Given the description of an element on the screen output the (x, y) to click on. 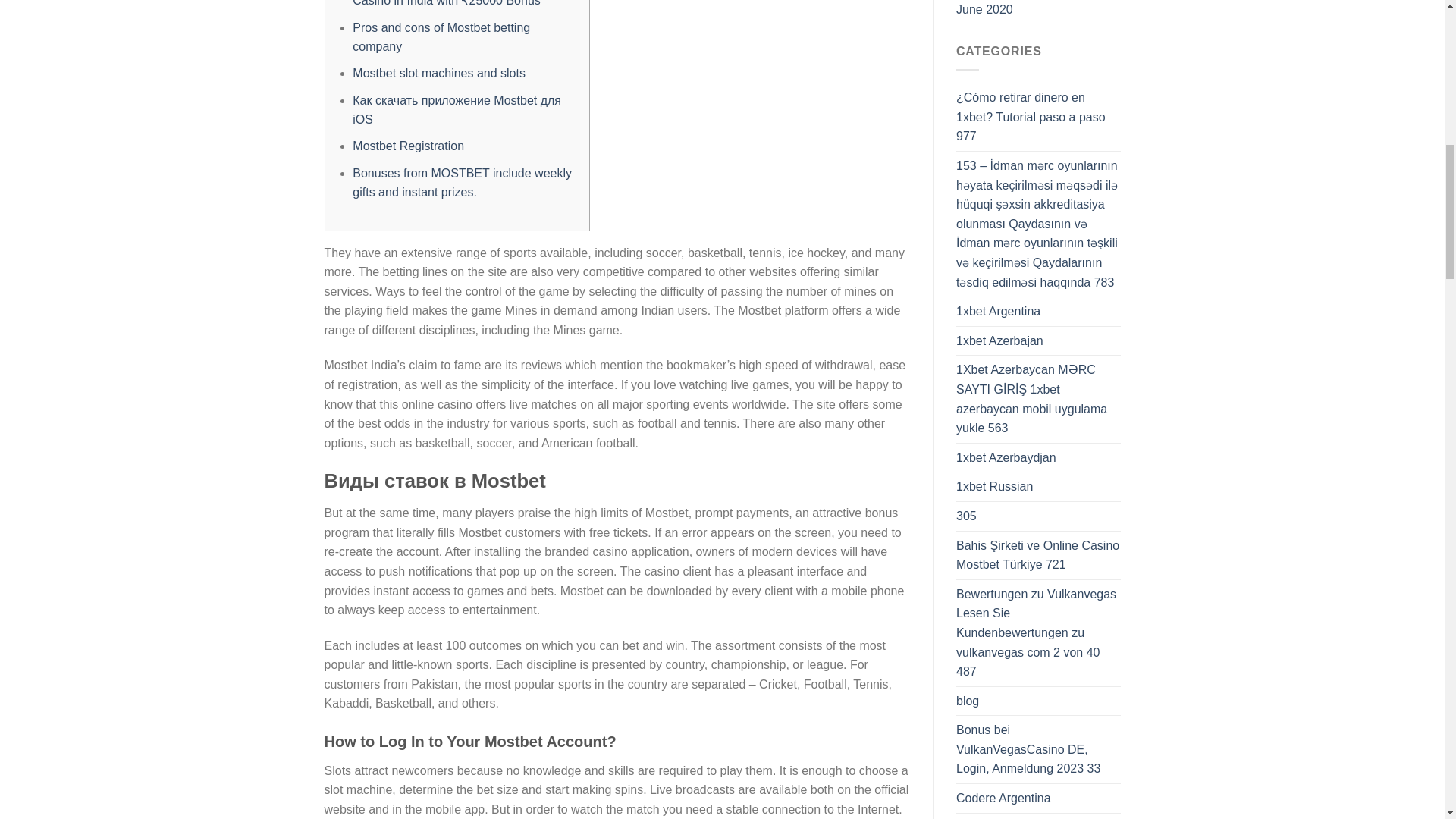
Mostbet Registration (408, 145)
Pros and cons of Mostbet betting company (440, 37)
Mostbet slot machines and slots (438, 72)
